Given the description of an element on the screen output the (x, y) to click on. 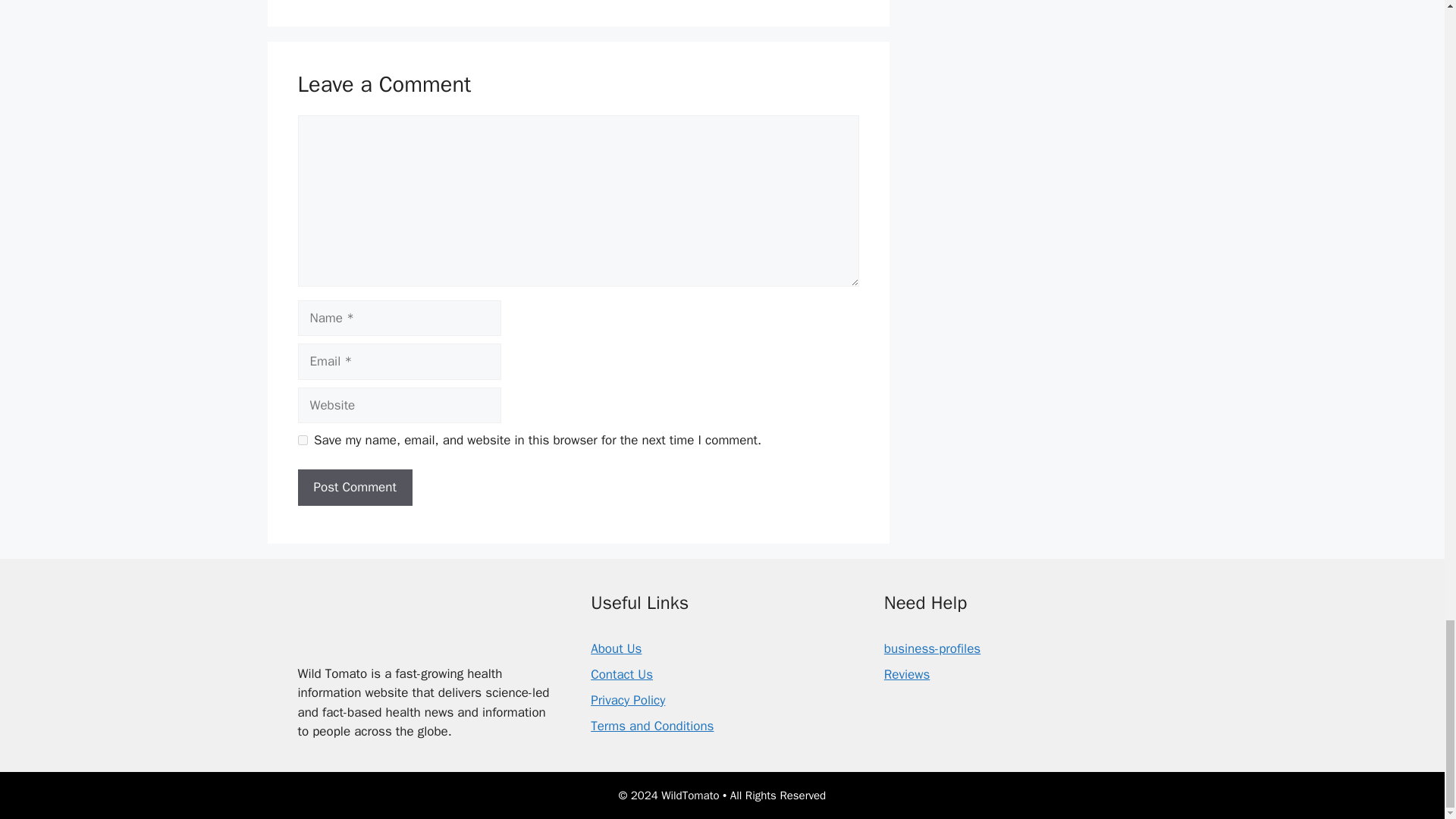
business-profiles (931, 648)
Post Comment (354, 487)
yes (302, 439)
Contact Us (621, 674)
About Us (616, 648)
Post Comment (354, 487)
Reviews (906, 674)
Privacy Policy (628, 700)
Terms and Conditions (652, 725)
